Given the description of an element on the screen output the (x, y) to click on. 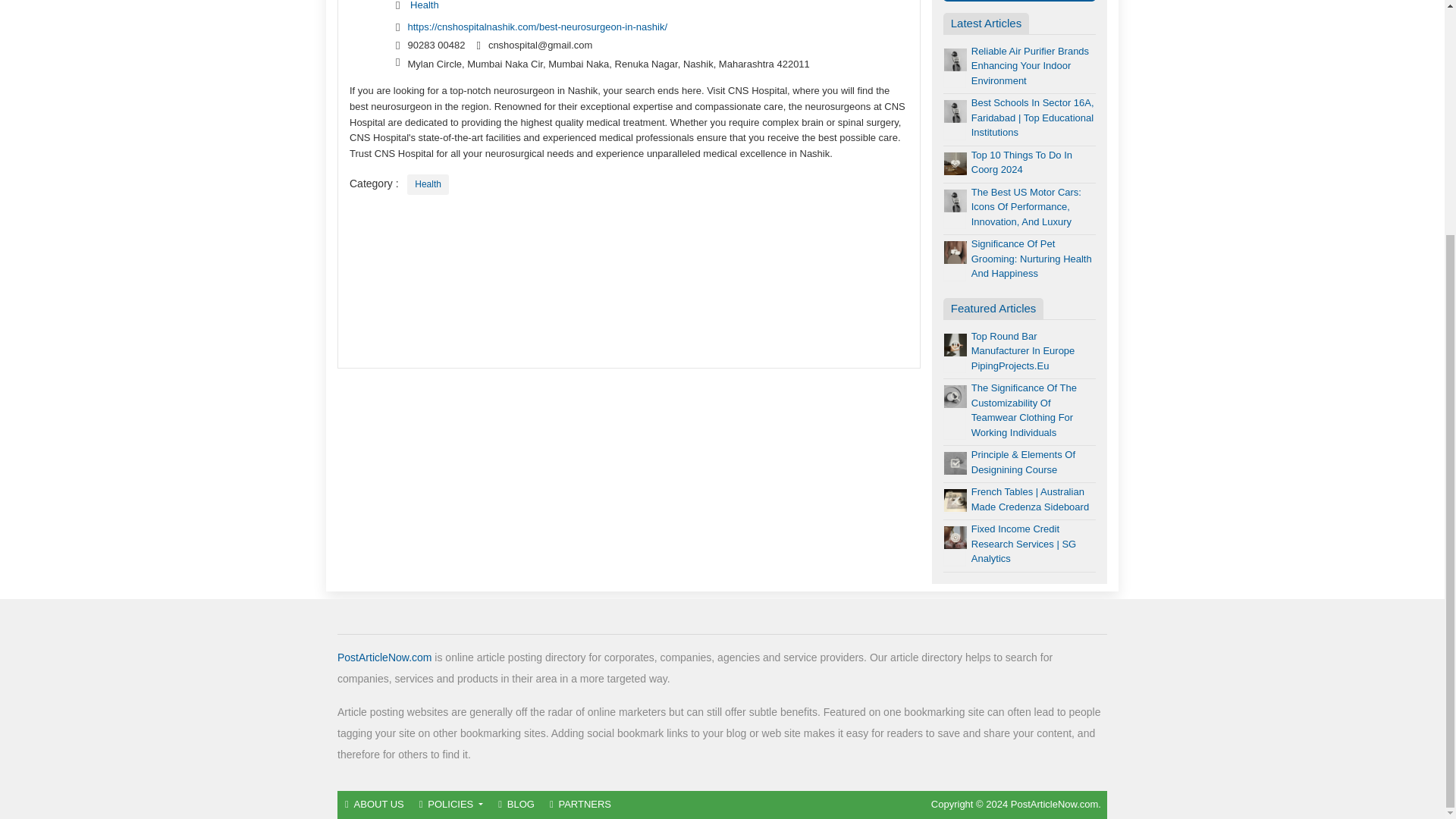
Health (427, 184)
Health (427, 184)
Health (424, 5)
Health (424, 5)
